Given the description of an element on the screen output the (x, y) to click on. 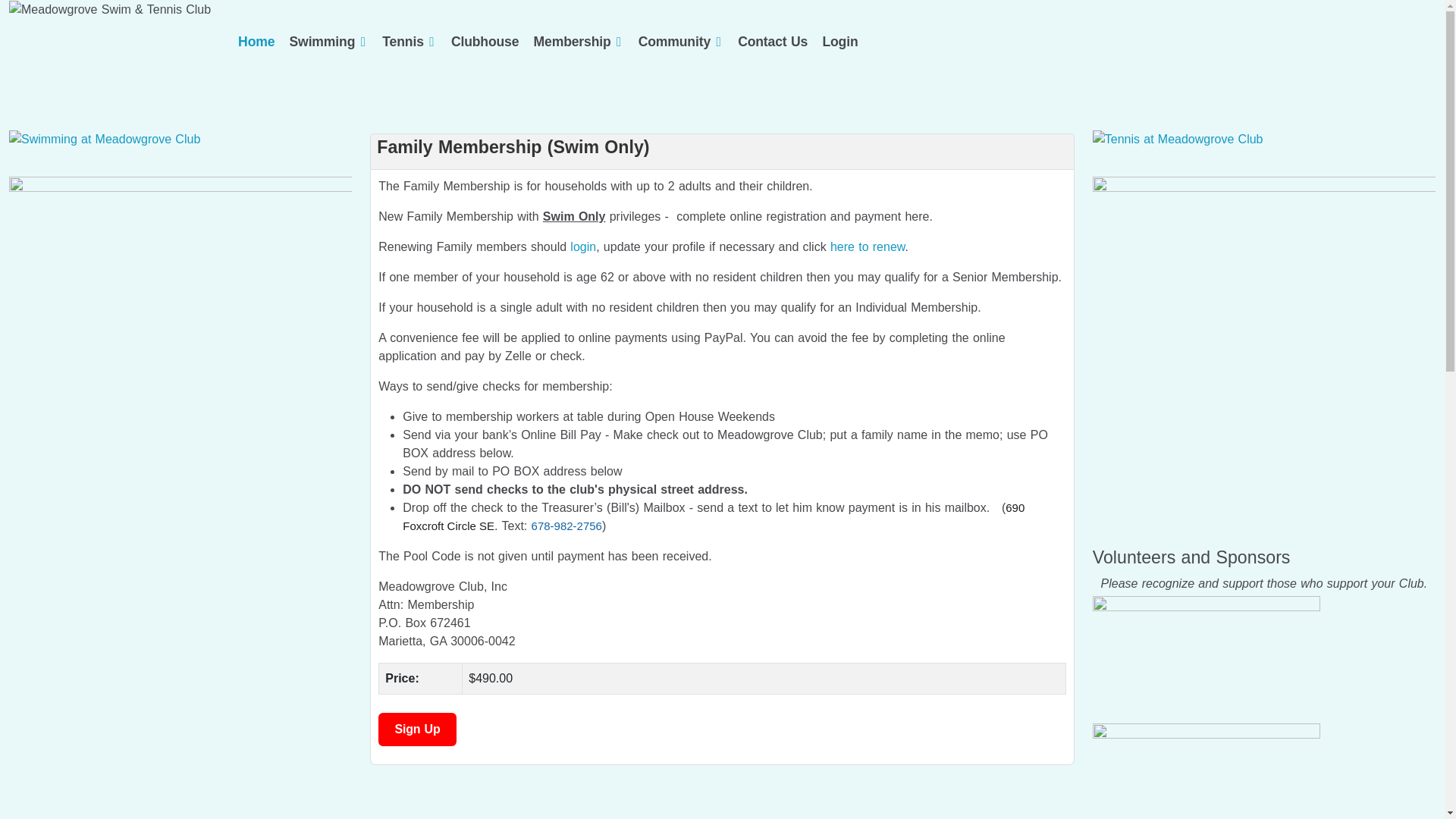
login (582, 246)
Community (674, 41)
Tennis at Meadowgrove Club (1178, 139)
Login (839, 41)
here to renew (867, 246)
Swimming at Meadowgrove Club (104, 139)
Clubhouse (484, 41)
Membership (572, 41)
Sign Up (417, 729)
Contact Us (773, 41)
Home (256, 41)
678-982-2756 (566, 525)
Tennis (402, 41)
Swimming (322, 41)
